Given the description of an element on the screen output the (x, y) to click on. 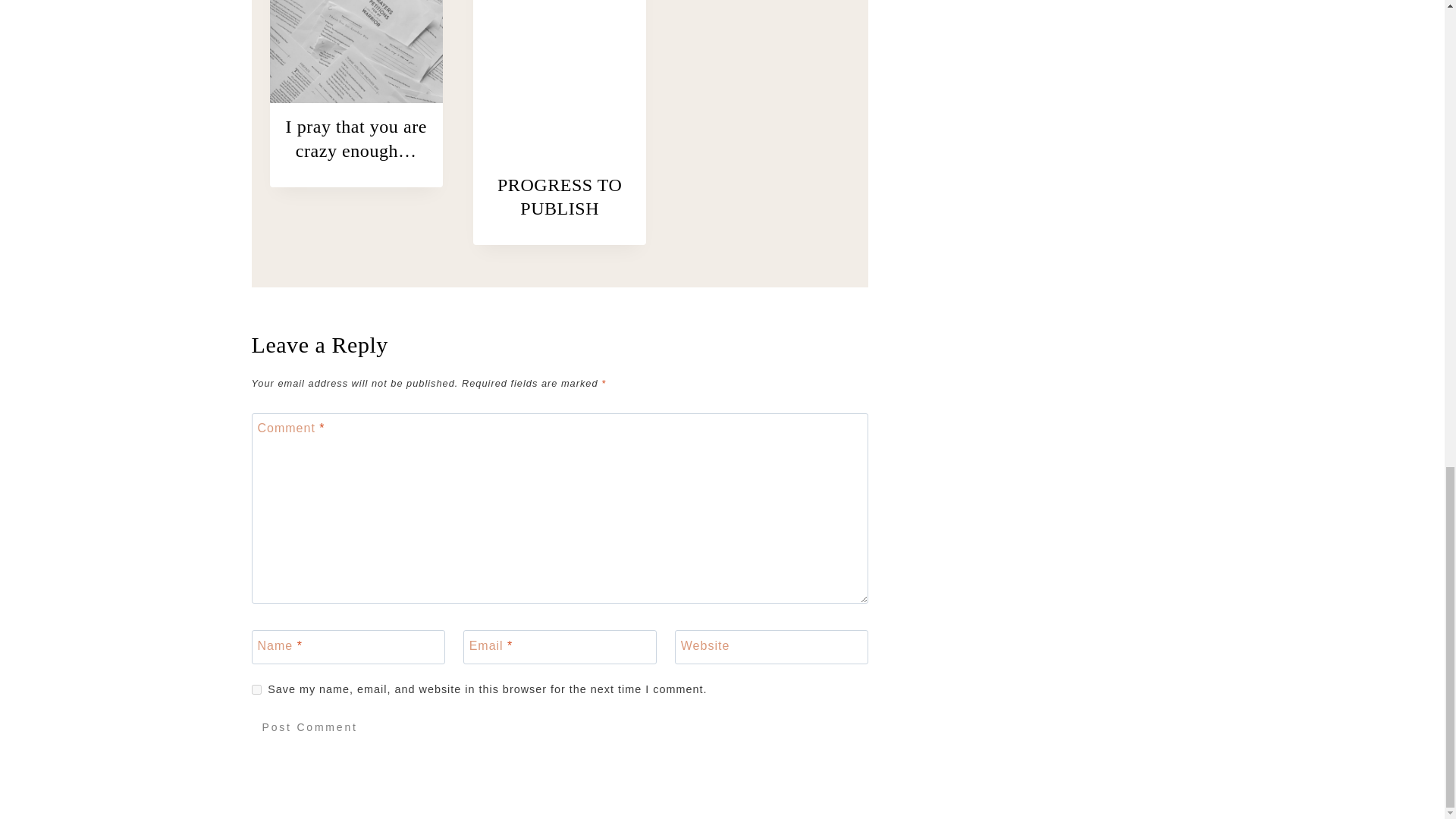
yes (256, 689)
PROGRESS TO PUBLISH (560, 196)
Post Comment (309, 727)
Post Comment (309, 727)
